Given the description of an element on the screen output the (x, y) to click on. 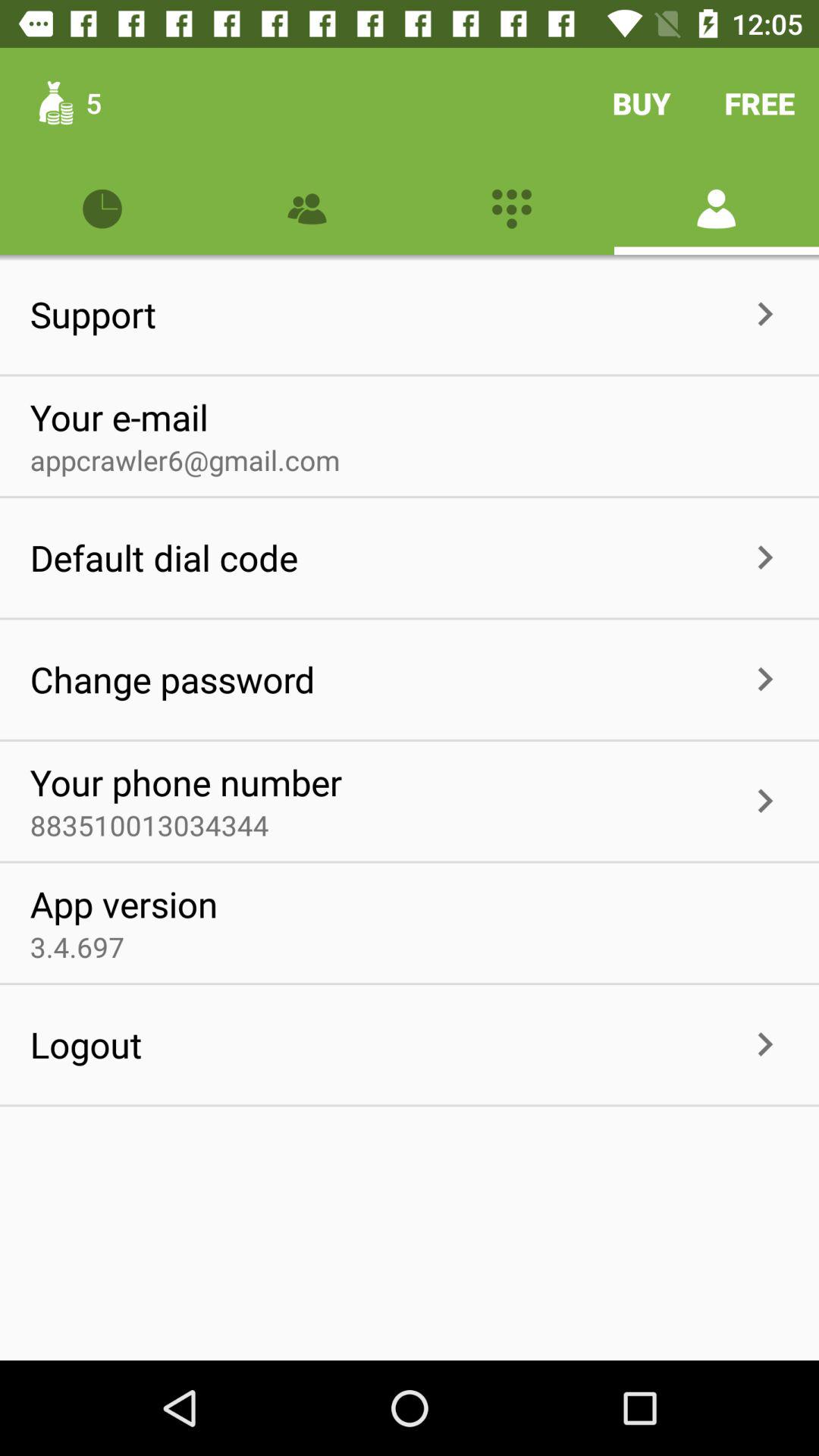
click item above the appcrawler6@gmail.com item (119, 417)
